Given the description of an element on the screen output the (x, y) to click on. 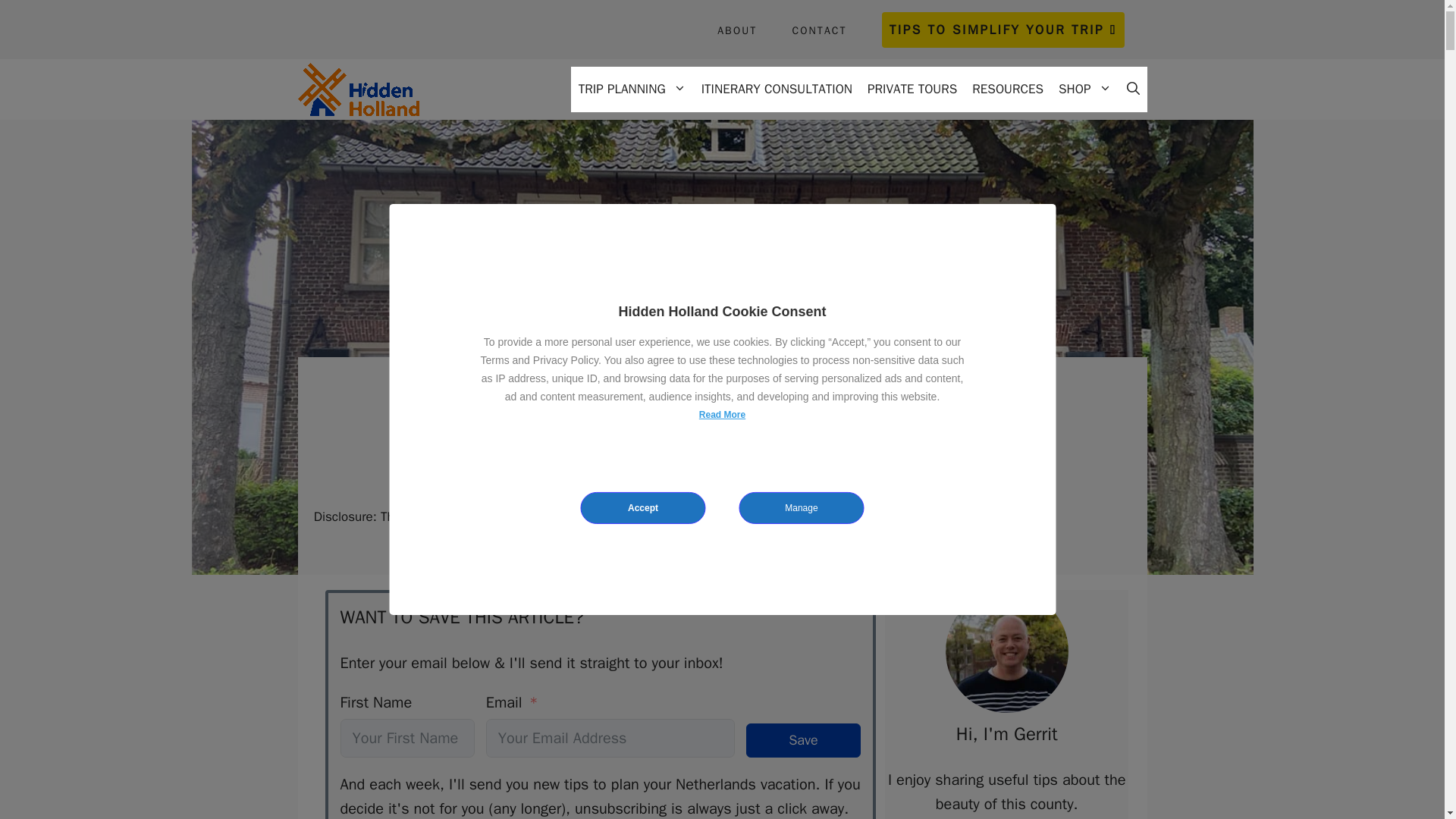
RESOURCES (1007, 89)
PRIVATE TOURS (911, 89)
CONTACT (818, 30)
SHOP (1084, 89)
TRIP PLANNING (632, 89)
ABOUT (737, 30)
ITINERARY CONSULTATION (777, 89)
gerrit-amsterdam-backdrop-1200-1200 (1006, 650)
